Given the description of an element on the screen output the (x, y) to click on. 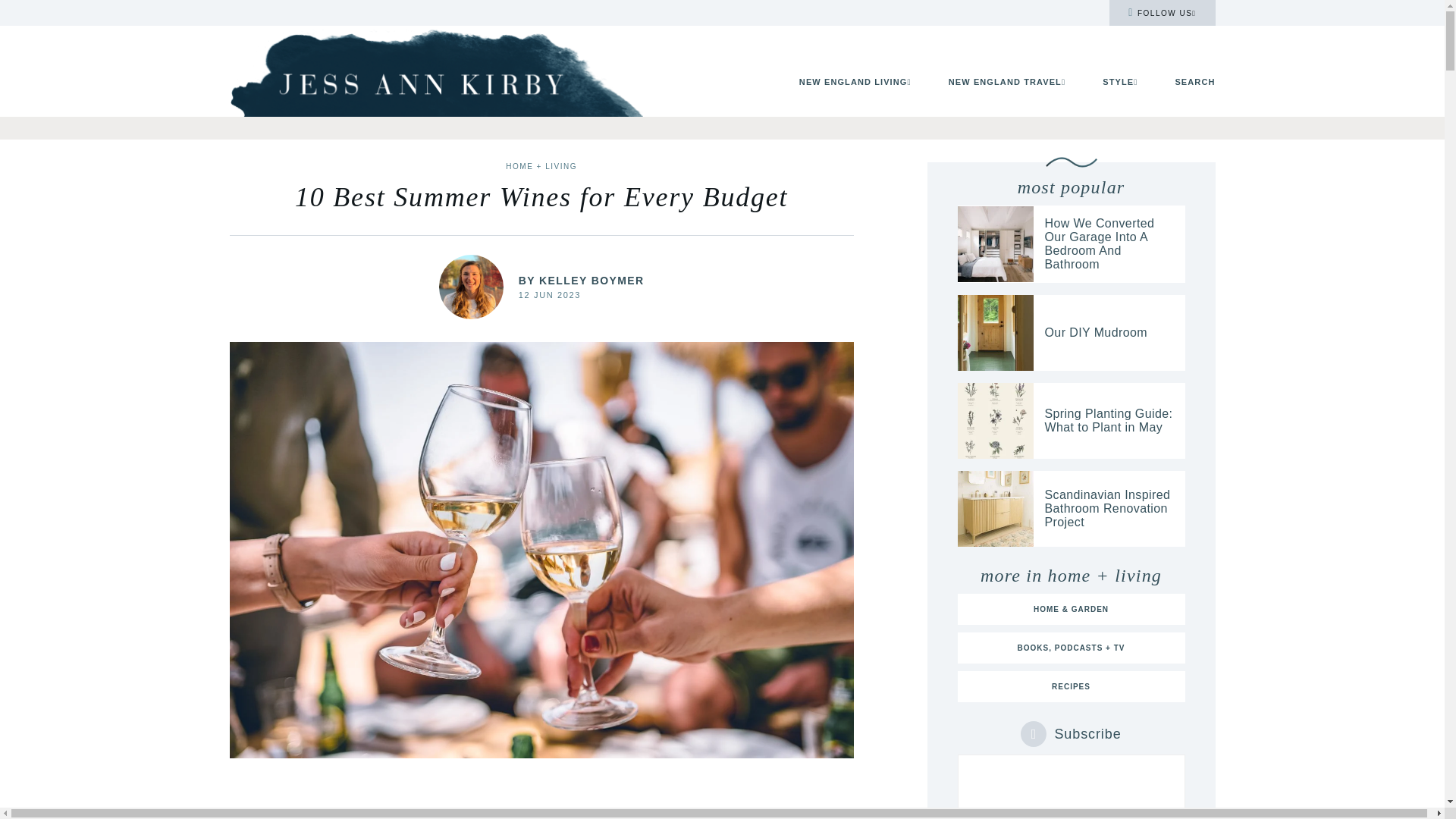
FOLLOW US (1161, 12)
SEARCH (1194, 81)
NEW ENGLAND LIVING (855, 81)
STYLE (1119, 81)
NEW ENGLAND TRAVEL (1007, 81)
